Given the description of an element on the screen output the (x, y) to click on. 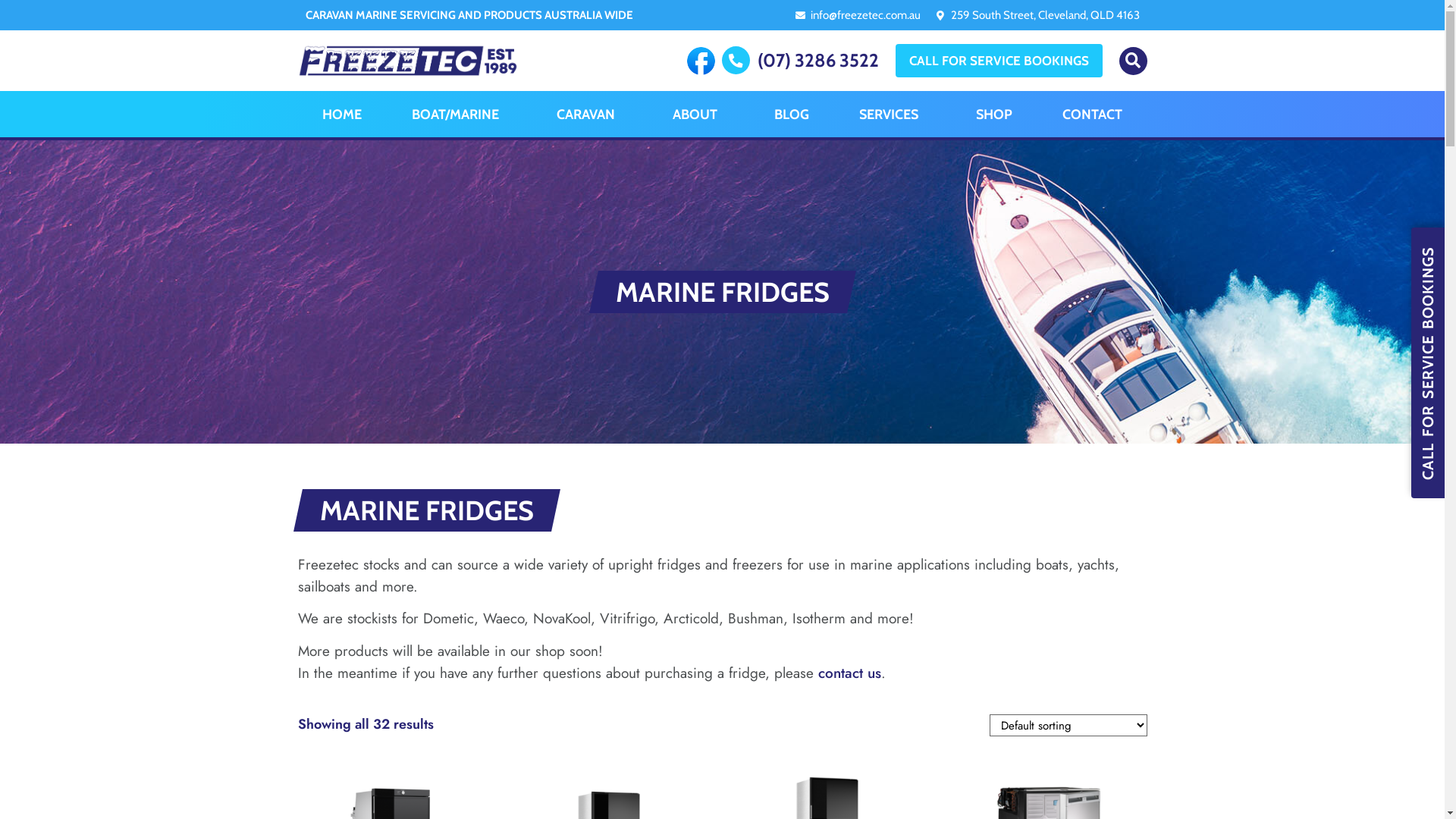
SERVICES Element type: text (892, 114)
info@freezetec.com.au Element type: text (864, 14)
CONTACT Element type: text (1092, 114)
SHOP Element type: text (993, 114)
BLOG Element type: text (791, 114)
CALL FOR SERVICE BOOKINGS Element type: text (997, 60)
contact us Element type: text (848, 672)
CARAVAN Element type: text (589, 114)
HOME Element type: text (341, 114)
(07) 3286 3522 Element type: text (817, 60)
ABOUT Element type: text (698, 114)
CALL FOR SERVICE BOOKINGS Element type: text (1427, 362)
BOAT/MARINE Element type: text (458, 114)
